Given the description of an element on the screen output the (x, y) to click on. 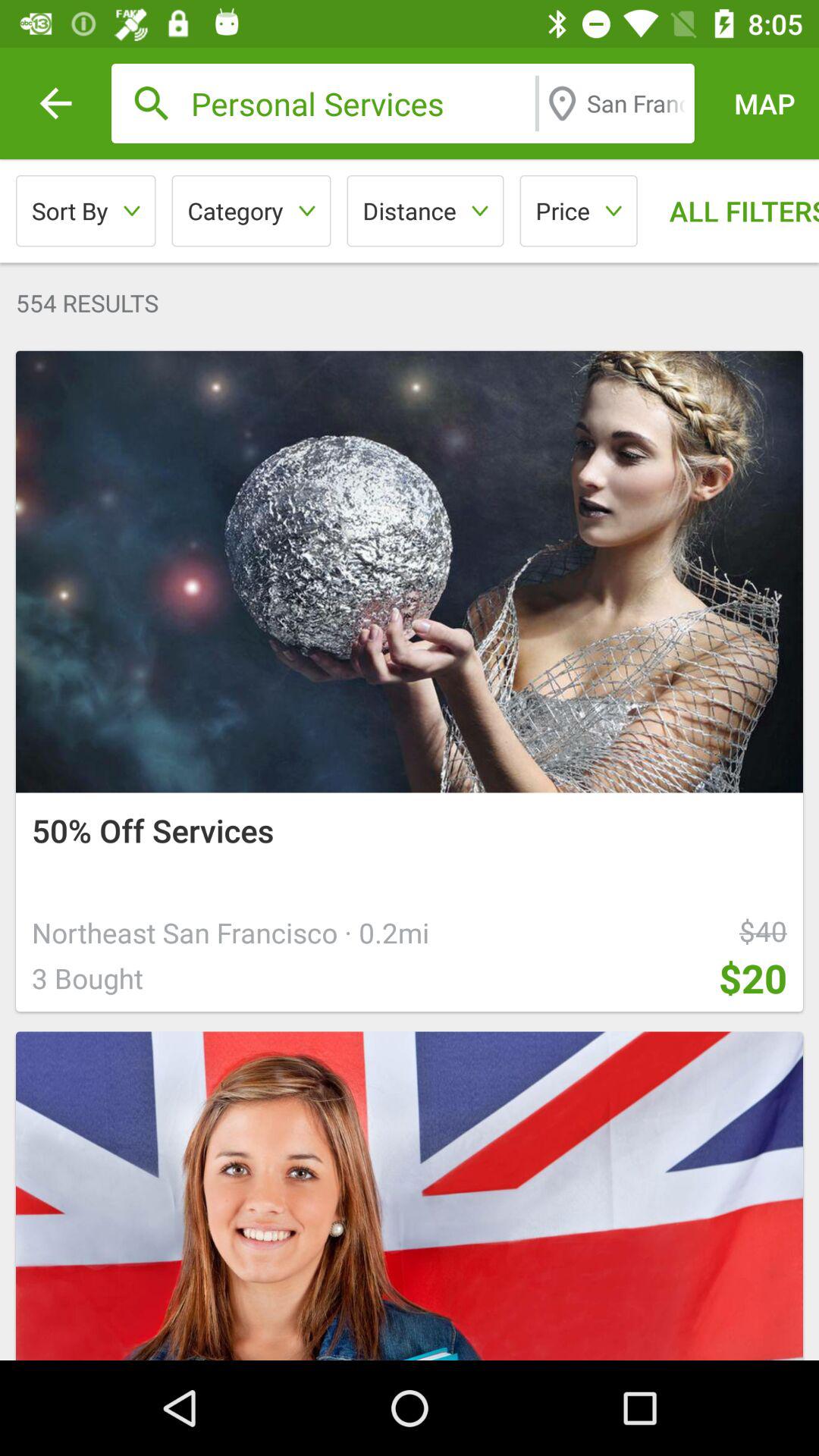
flip to the map item (764, 103)
